Given the description of an element on the screen output the (x, y) to click on. 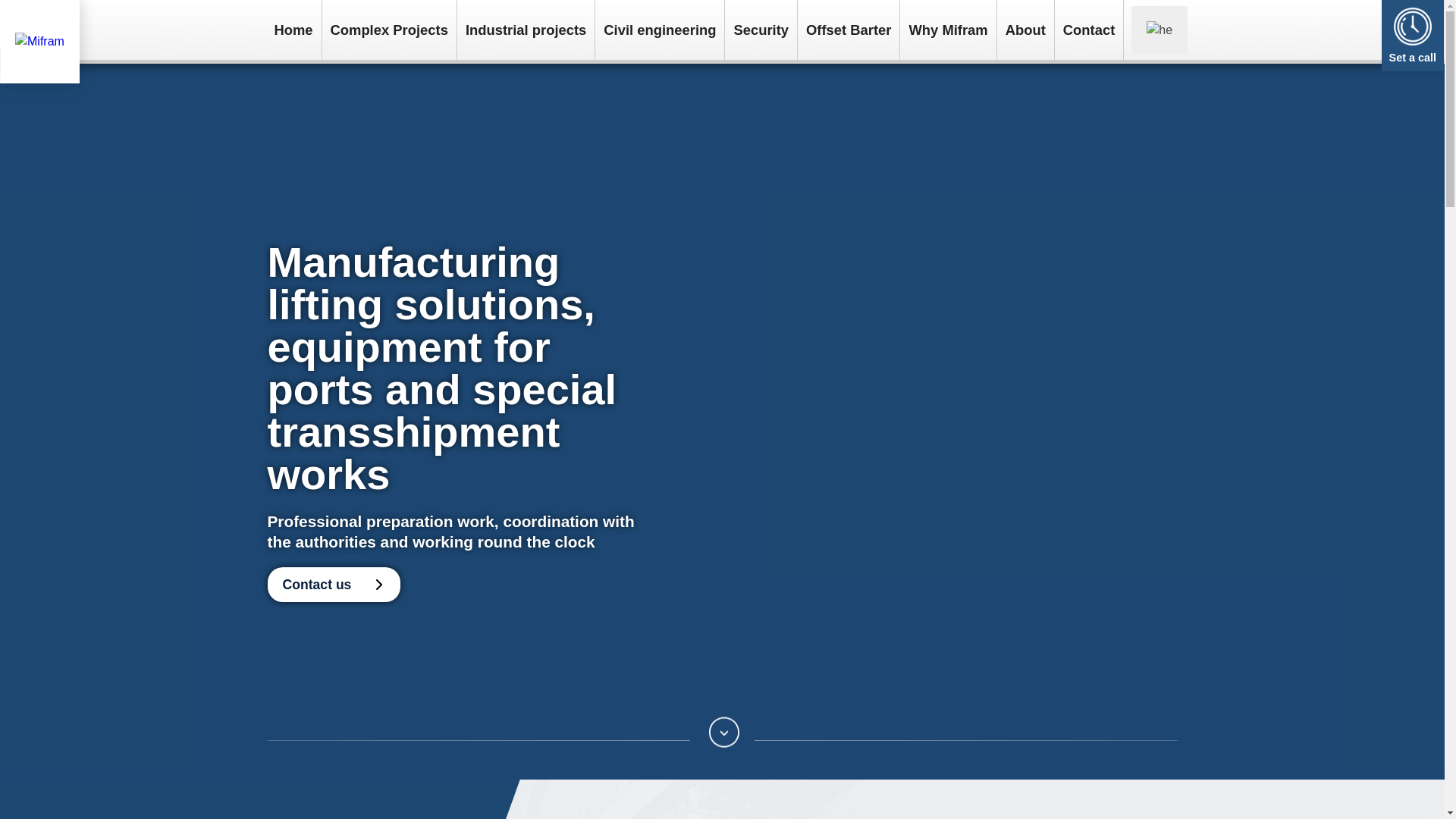
Contact us (332, 584)
About (1025, 29)
Home (292, 29)
Complex Projects (389, 29)
Offset Barter (848, 29)
Contact (1088, 29)
Why Mifram (947, 29)
Industrial projects (525, 29)
Civil engineering (659, 29)
Security (760, 29)
